Given the description of an element on the screen output the (x, y) to click on. 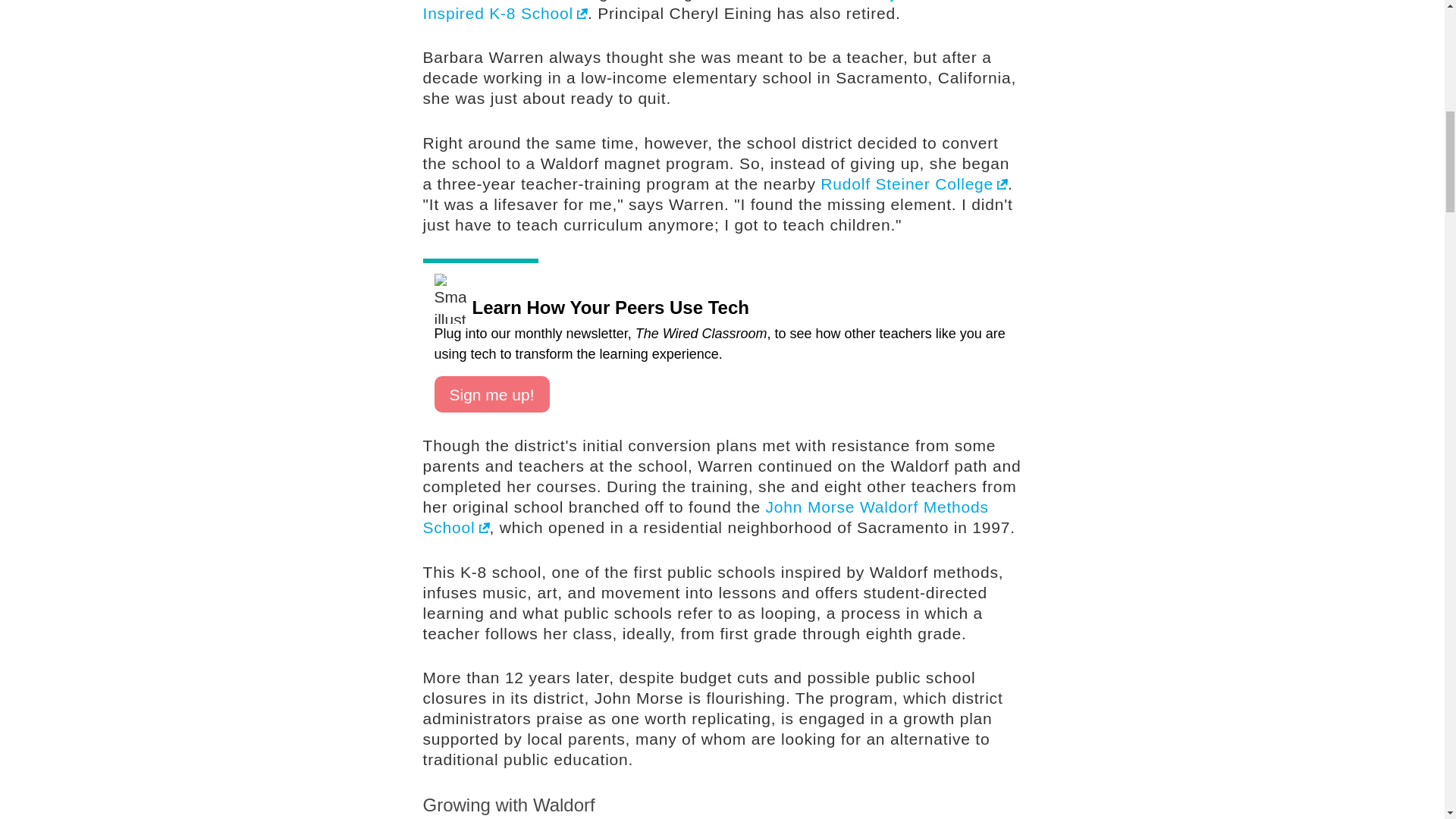
Sign me up! (490, 393)
Alice Birney Waldorf-Inspired K-8 School (695, 11)
John Morse Waldorf Methods School (705, 516)
Rudolf Steiner College (914, 183)
